Given the description of an element on the screen output the (x, y) to click on. 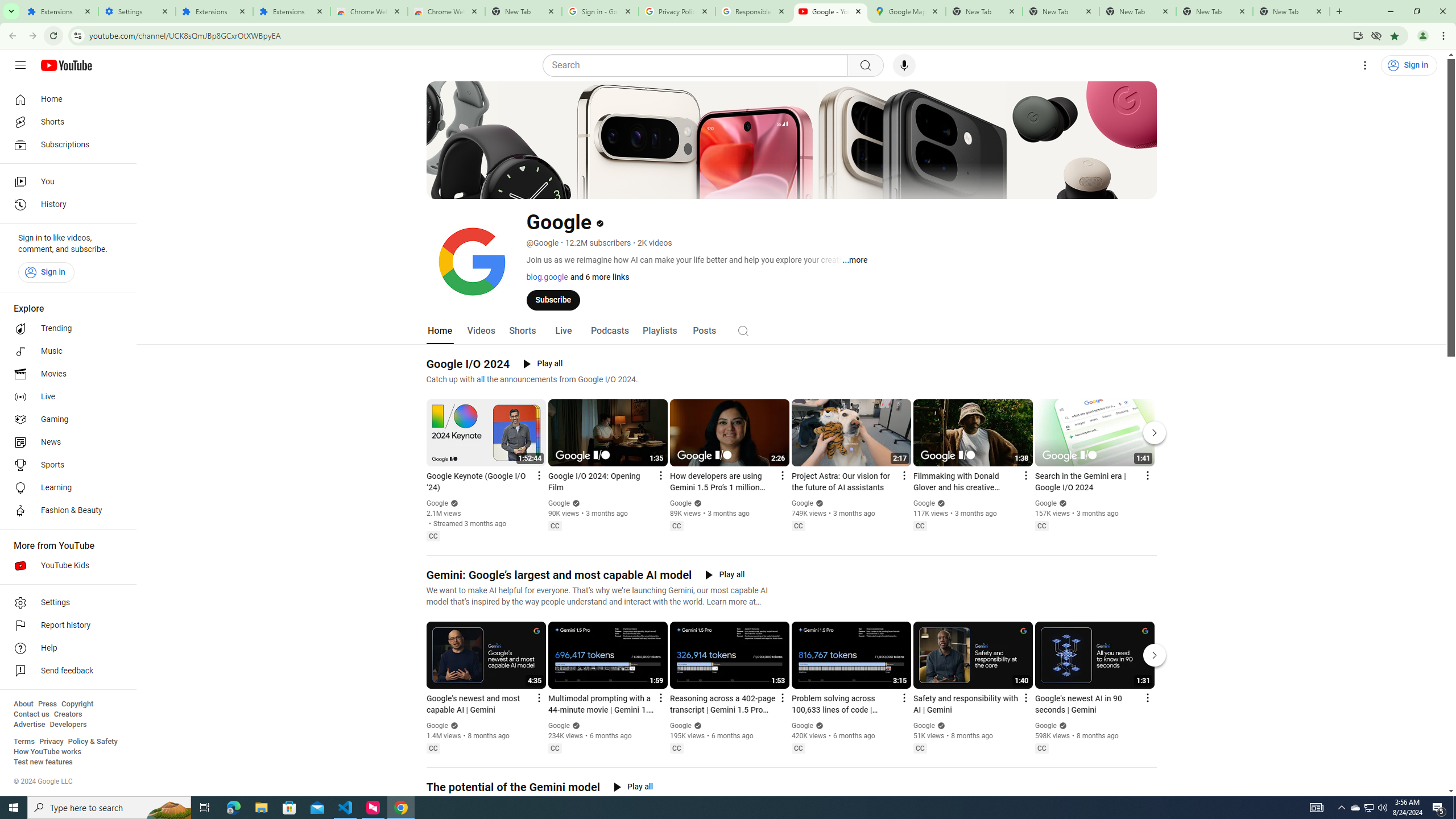
Search with your voice (903, 65)
News (64, 441)
Posts (703, 330)
Send feedback (64, 671)
and 6 more links (598, 276)
Advertise (29, 724)
Movies (64, 373)
Developers (68, 724)
Creators (67, 714)
Report history (64, 625)
